Given the description of an element on the screen output the (x, y) to click on. 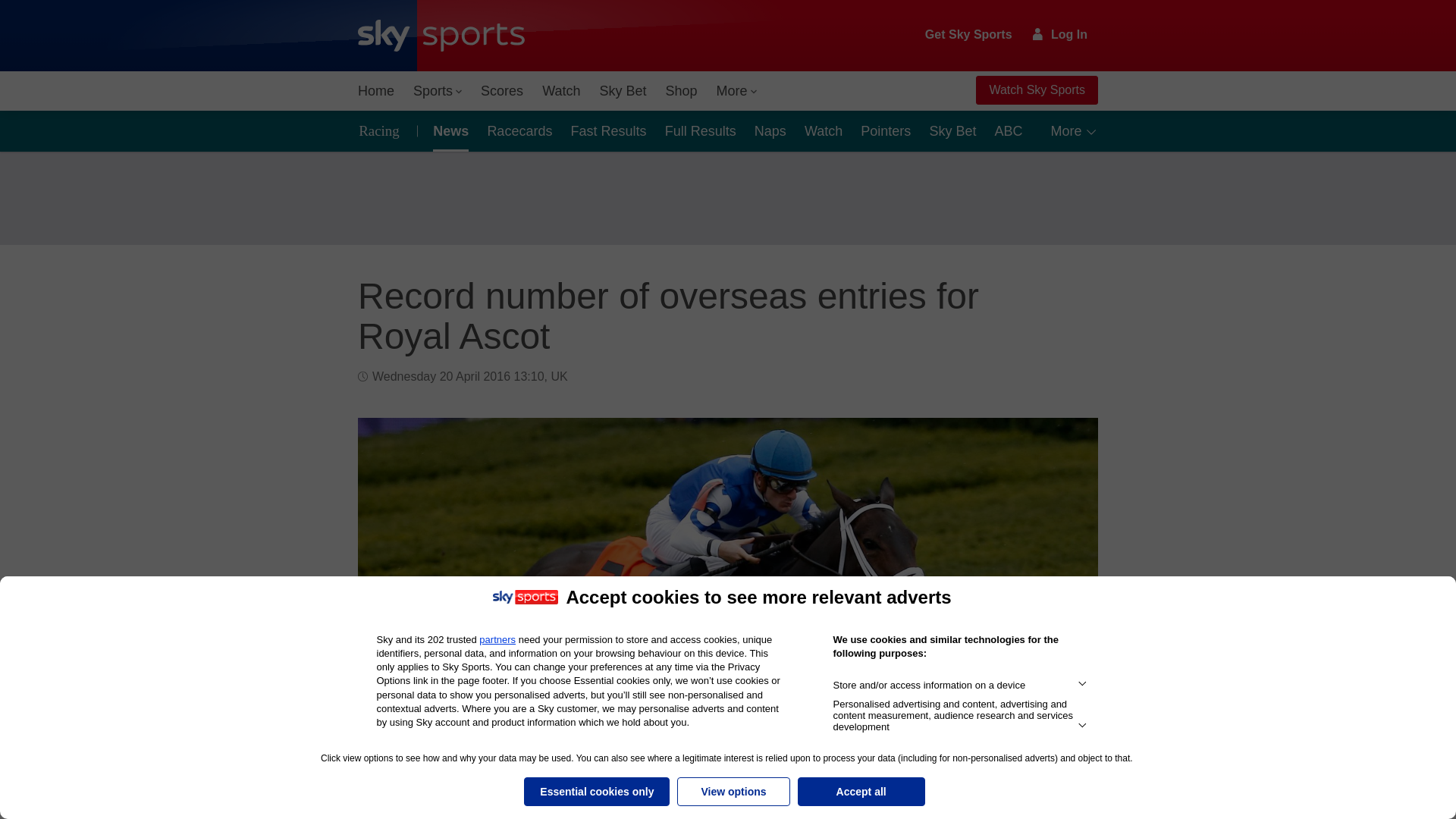
Watch (561, 91)
Sky Bet (622, 91)
Log In (1060, 33)
Watch Sky Sports (1036, 90)
Get Sky Sports (968, 34)
Scores (502, 91)
Home (375, 91)
Racing (383, 130)
More (736, 91)
Shop (681, 91)
